Given the description of an element on the screen output the (x, y) to click on. 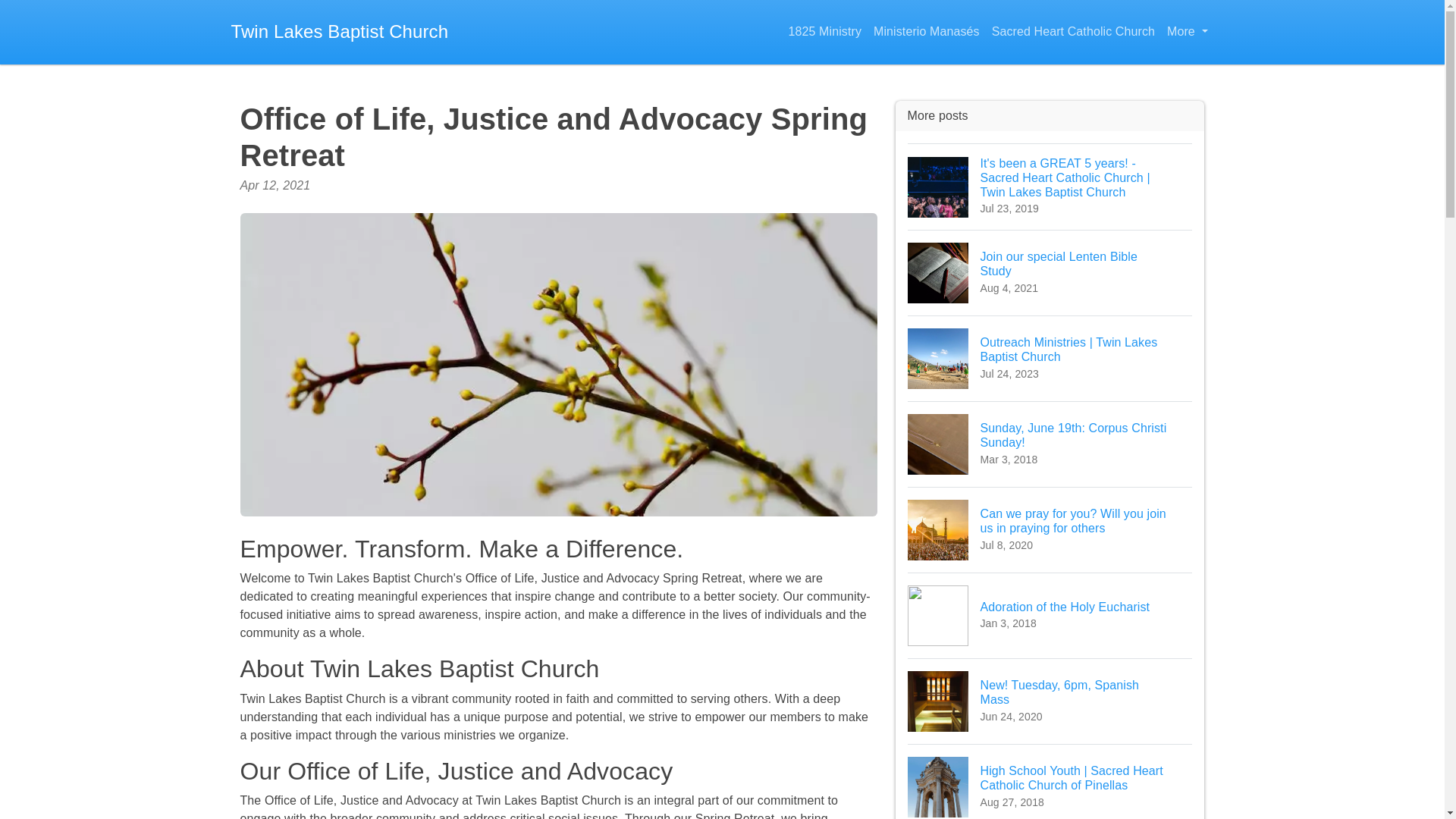
More (1049, 272)
Sacred Heart Catholic Church (1186, 32)
Twin Lakes Baptist Church (1049, 615)
1825 Ministry (1049, 443)
